Given the description of an element on the screen output the (x, y) to click on. 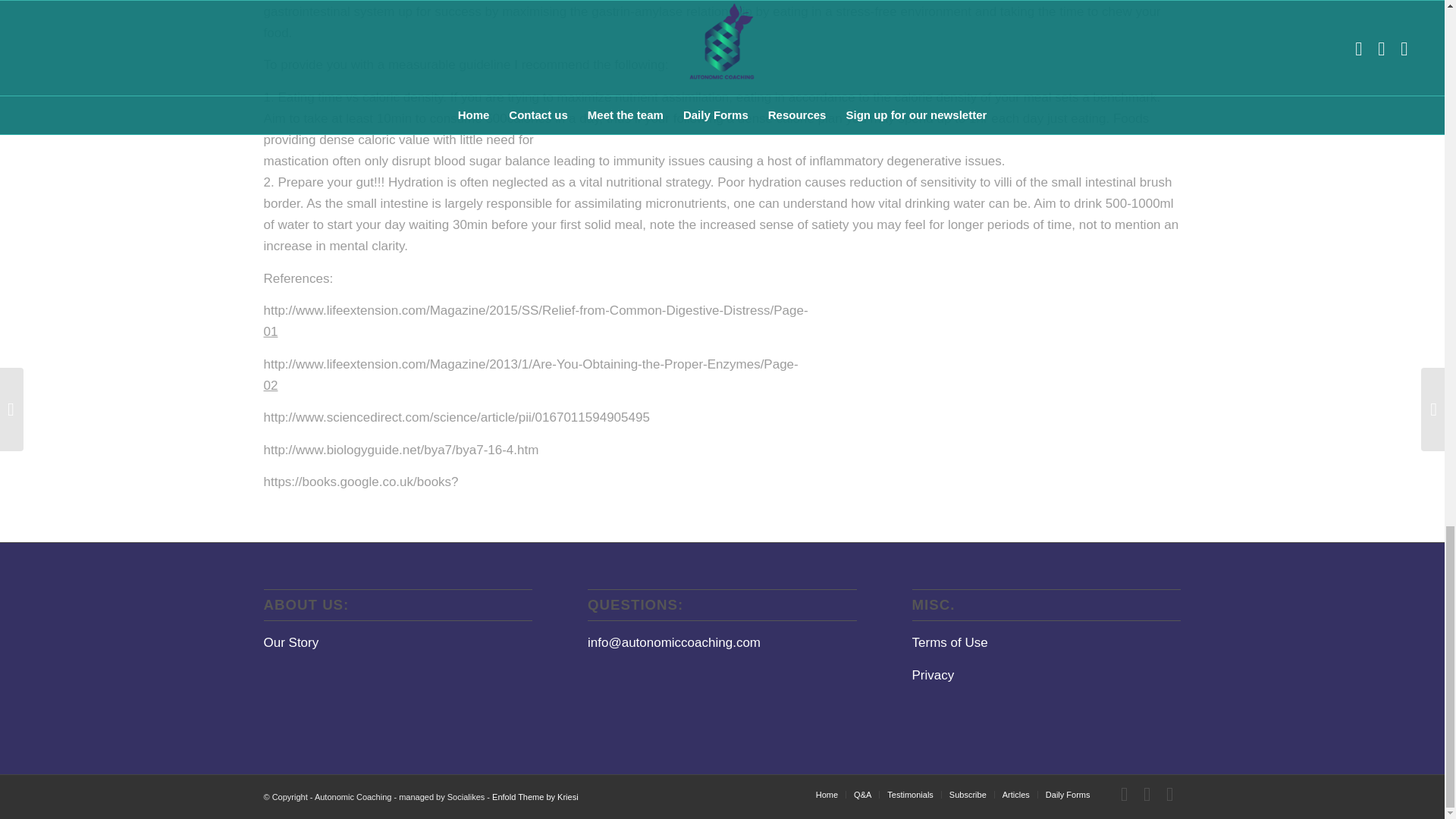
Our Story (290, 642)
LinkedIn (1169, 793)
Daily Forms (1067, 794)
Subscribe (968, 794)
Articles (1016, 794)
Enfold Theme by Kriesi (535, 796)
Terms of Use (950, 642)
Testimonials (909, 794)
Home (826, 794)
Facebook (1124, 793)
